Given the description of an element on the screen output the (x, y) to click on. 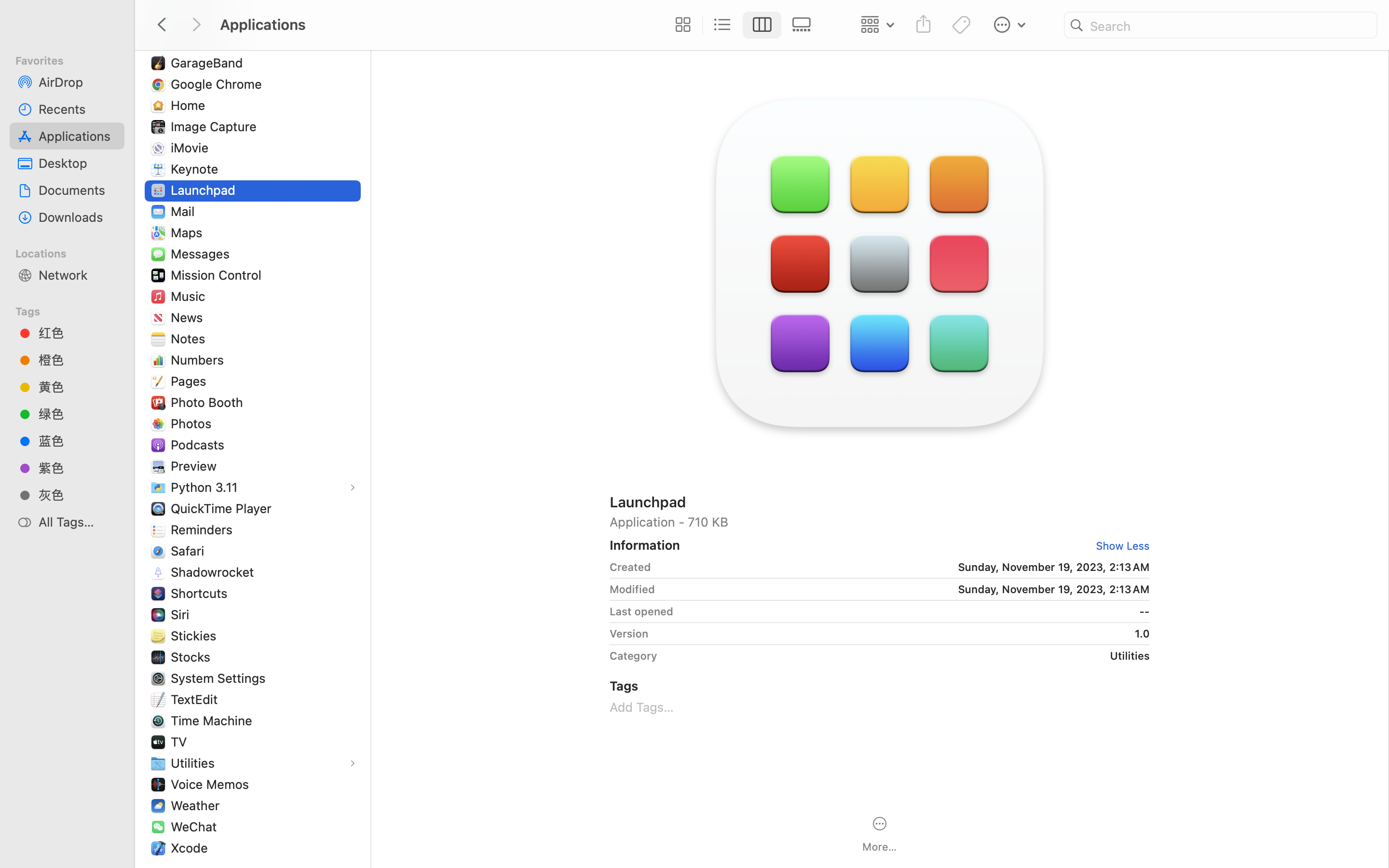
Version Element type: AXStaticText (628, 633)
橙色 Element type: AXStaticText (77, 359)
Reminders Element type: AXTextField (203, 529)
Recents Element type: AXStaticText (77, 108)
Voice Memos Element type: AXTextField (211, 783)
